Given the description of an element on the screen output the (x, y) to click on. 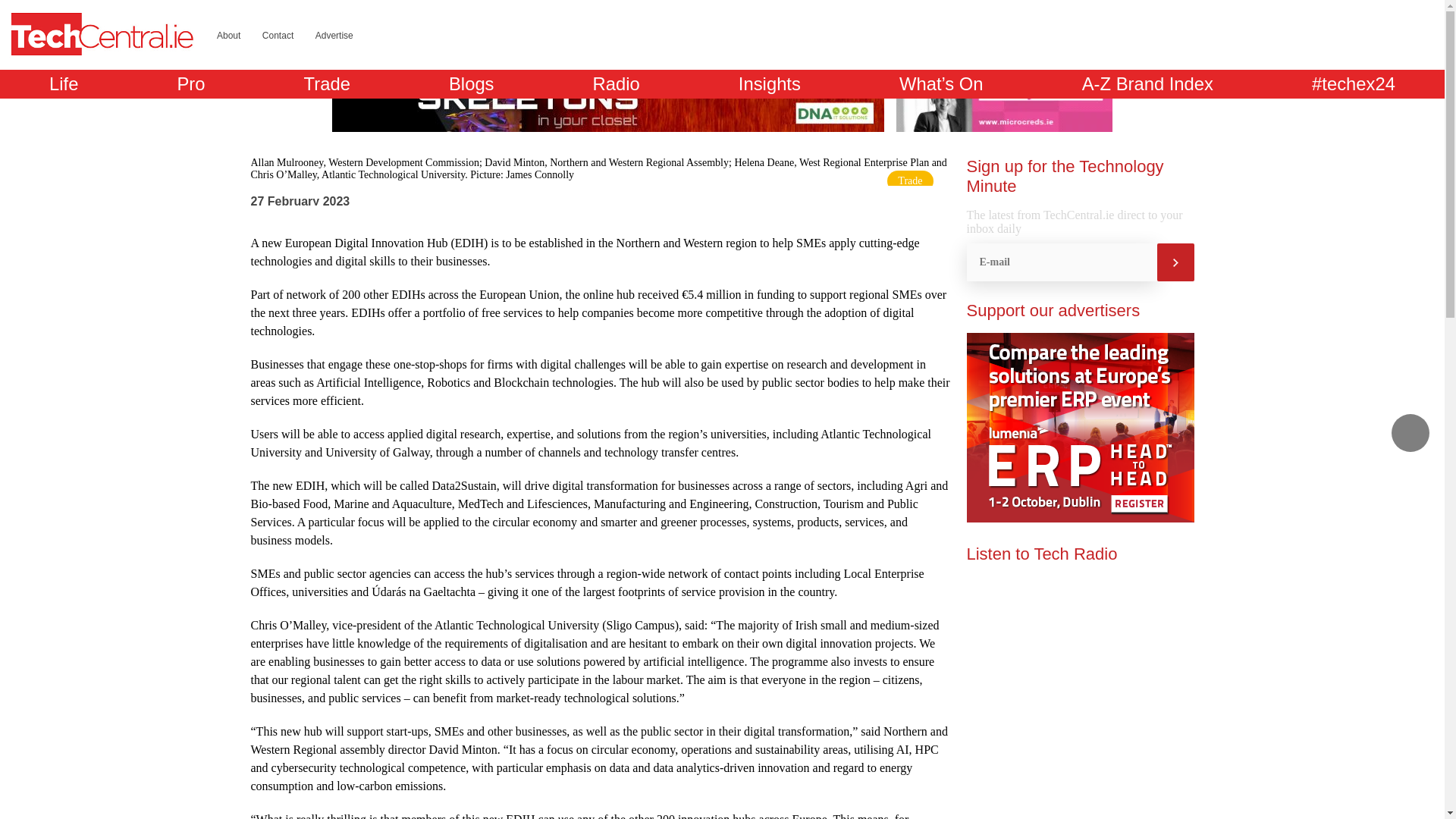
Life (64, 83)
Insights (769, 83)
Follow on Twitter (1324, 33)
Trade (909, 180)
Trade (327, 83)
Subscribe to Feed (1381, 33)
Blogs (471, 83)
A-Z Brand Index (1147, 83)
Pro (190, 83)
Advertise (334, 35)
Like on Facebook (1352, 33)
Radio (616, 83)
Contact (278, 35)
Follow on LinkedIn (1295, 33)
TechLife (64, 83)
